Given the description of an element on the screen output the (x, y) to click on. 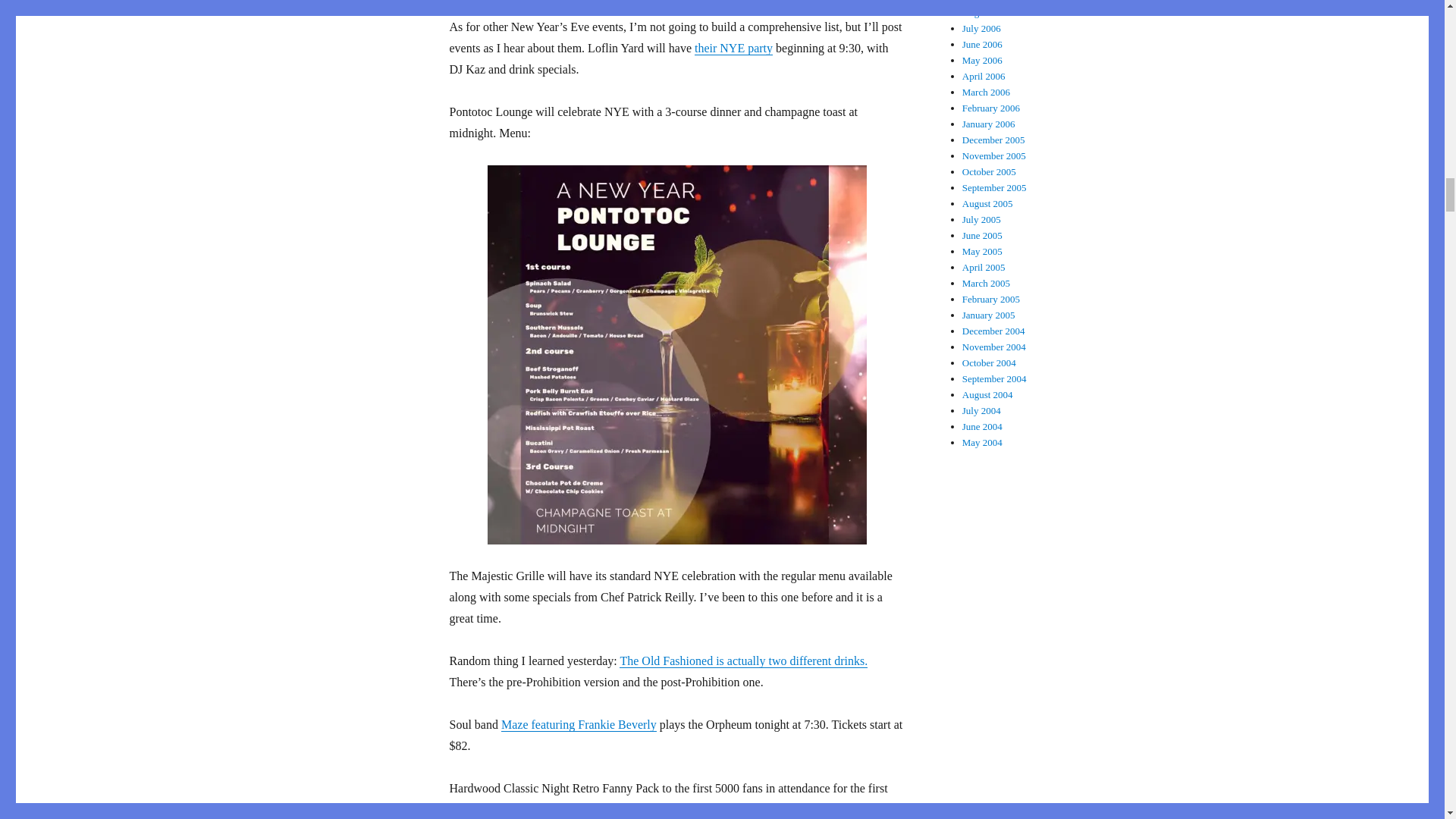
Maze featuring Frankie Beverly (578, 724)
The Old Fashioned is actually two different drinks. (743, 660)
their NYE party (733, 47)
